Given the description of an element on the screen output the (x, y) to click on. 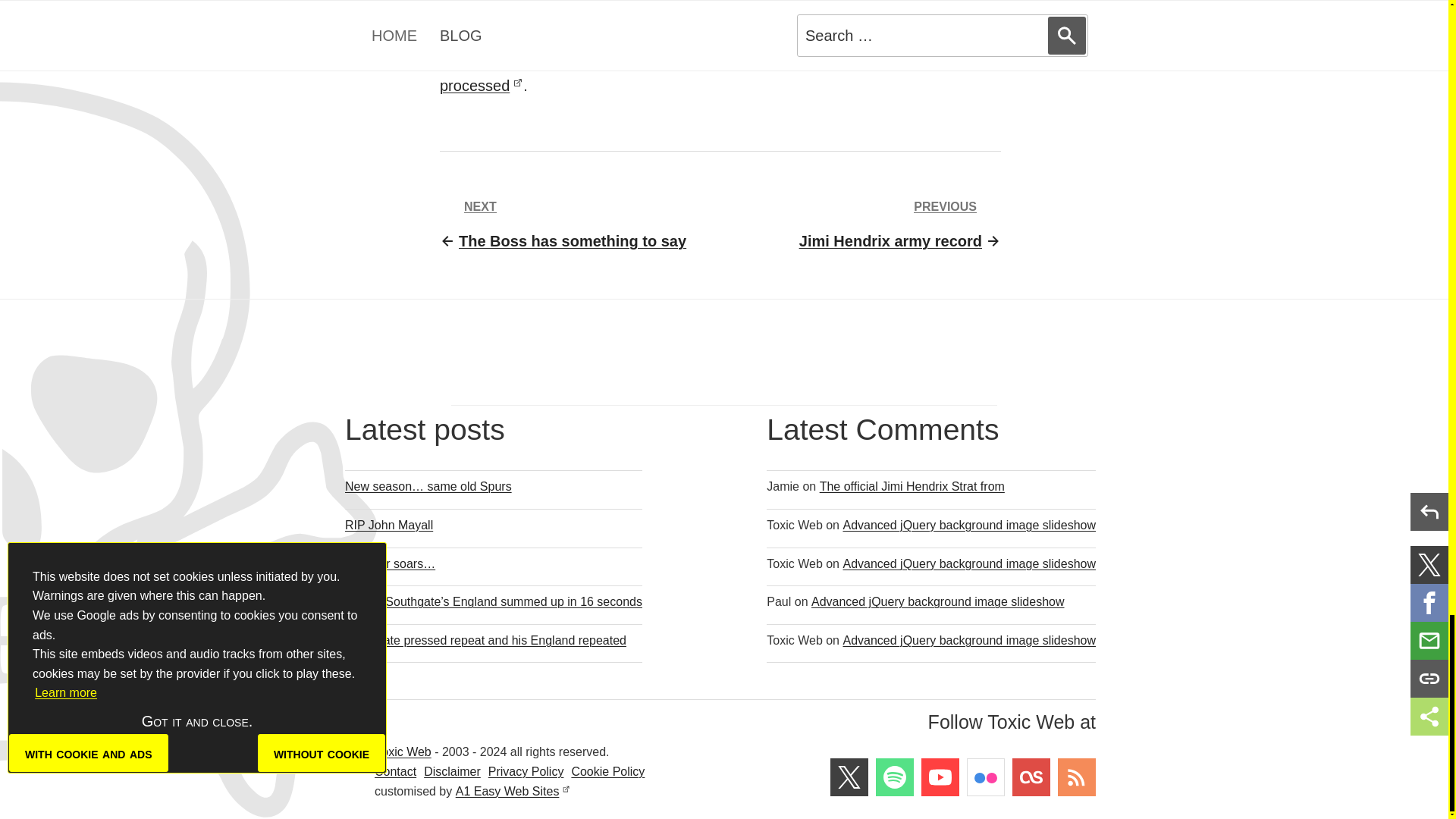
on (445, 1)
Learn how your comment data is processed (683, 73)
Post Comment (900, 225)
